Given the description of an element on the screen output the (x, y) to click on. 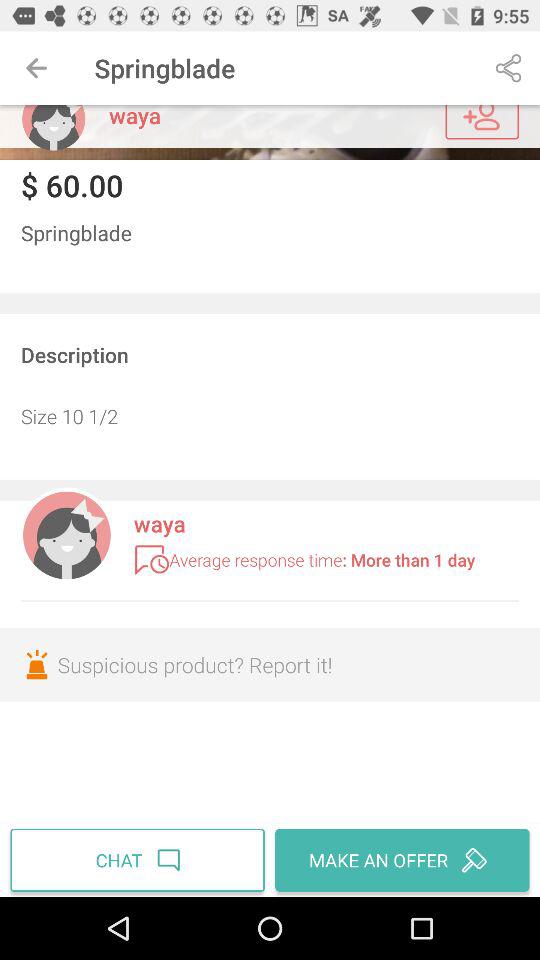
click item to the right of chat icon (399, 860)
